Given the description of an element on the screen output the (x, y) to click on. 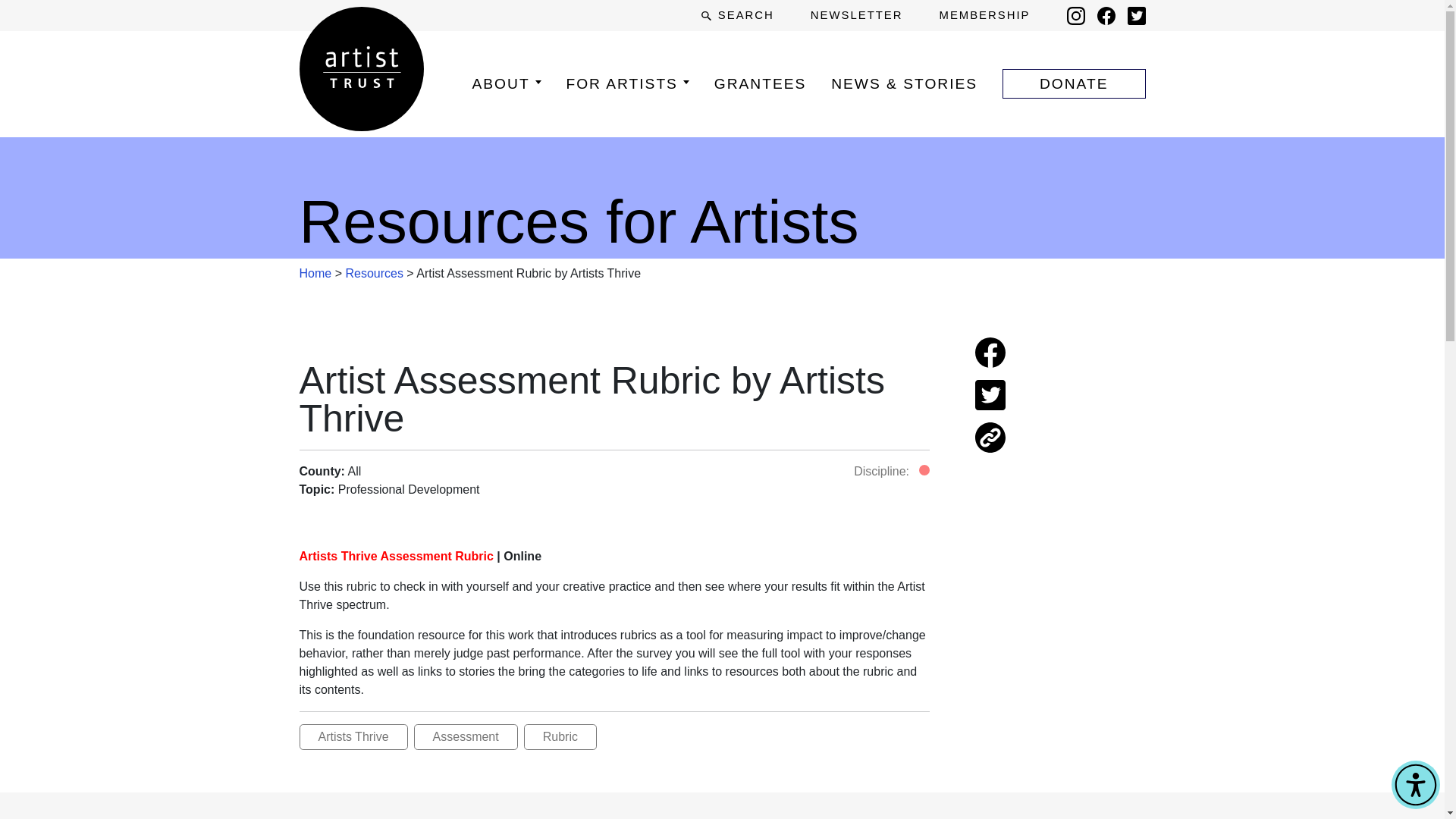
MEMBERSHIP (984, 14)
Artists Thrive Assessment Rubric (395, 555)
Resources (374, 273)
Assessment (465, 736)
ABOUT (505, 83)
Artists Thrive (352, 736)
Accessibility Menu (1415, 784)
SEARCH (737, 14)
Home (314, 273)
DONATE (1074, 83)
Twitter (1135, 15)
GRANTEES (760, 83)
FOR ARTISTS (627, 83)
NEWSLETTER (856, 14)
Rubric (560, 736)
